Given the description of an element on the screen output the (x, y) to click on. 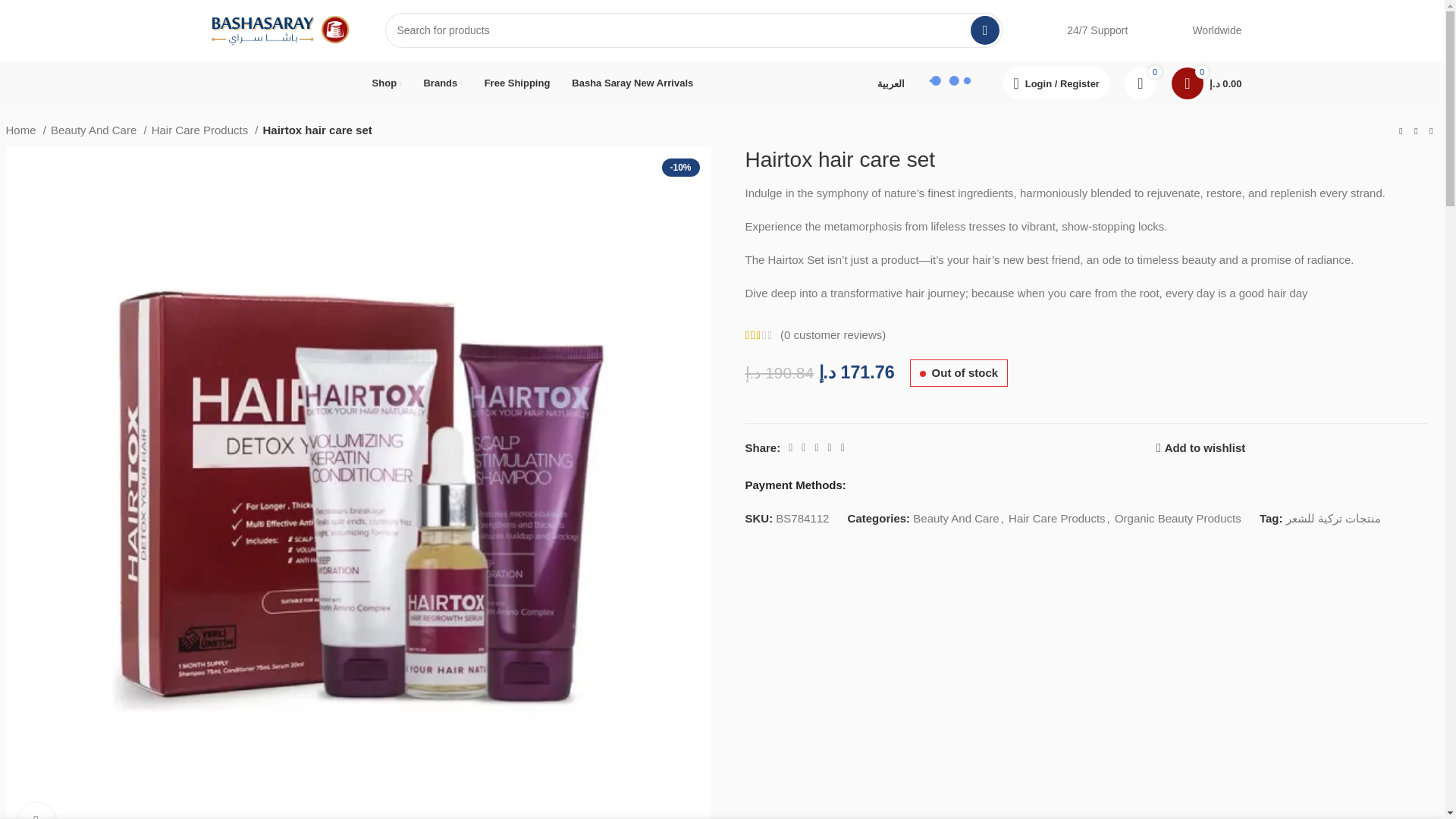
worldwide (1171, 29)
Search for products (694, 30)
SEARCH (984, 30)
My account (1055, 82)
My Wishlist (1139, 82)
Shop (386, 82)
Shopping cart (1206, 82)
support (1045, 29)
